Given the description of an element on the screen output the (x, y) to click on. 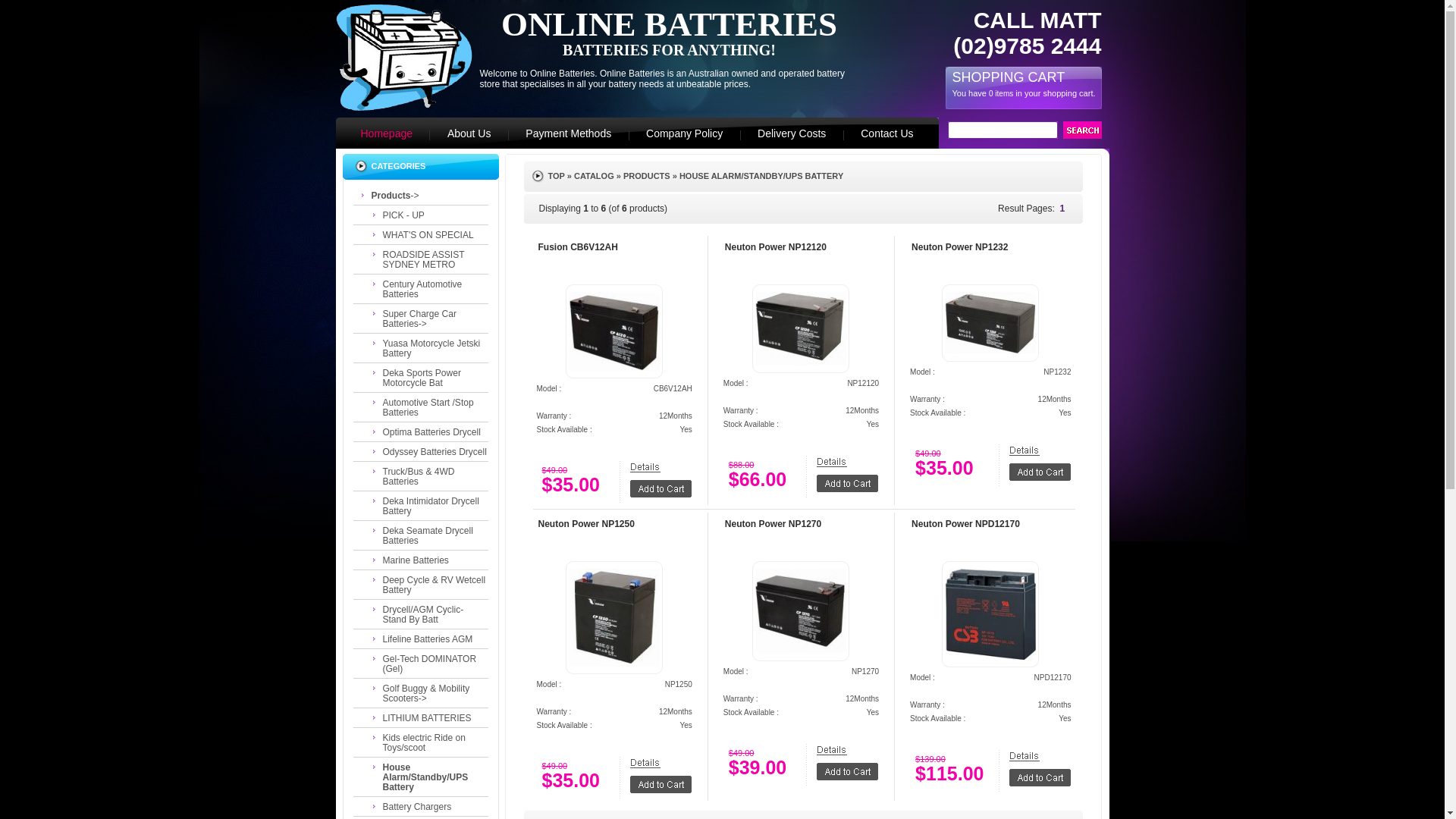
Neuton Power NP1270 Element type: text (772, 523)
ROADSIDE ASSIST SYDNEY METRO Element type: text (425, 258)
Odyssey Batteries Drycell Element type: text (425, 451)
Fusion CB6V12AH Element type: text (578, 246)
Deka Seamate Drycell Batteries Element type: text (425, 534)
Battery Chargers Element type: text (425, 805)
 Neuton Power NP12120  Element type: hover (800, 328)
 Neuton Power NPD12170  Element type: hover (989, 613)
TOP Element type: text (555, 175)
Kids electric Ride on Toys/scoot Element type: text (425, 741)
Neuton Power NP1250 Element type: text (586, 523)
HOUSE ALARM/STANDBY/UPS BATTERY Element type: text (761, 175)
Neuton Power NP1232 Element type: text (959, 246)
 Neuton Power NP1250  Element type: hover (613, 617)
Neuton Power NP12120 Element type: text (775, 246)
 Fusion CB6V12AH  Element type: hover (613, 330)
Automotive Start /Stop Batteries Element type: text (425, 406)
Products-> Element type: text (420, 194)
LITHIUM BATTERIES Element type: text (425, 717)
Yuasa Motorcycle Jetski Battery Element type: text (425, 347)
Golf Buggy & Mobility Scooters-> Element type: text (425, 692)
PICK - UP Element type: text (425, 214)
Lifeline Batteries AGM Element type: text (425, 638)
WHAT'S ON SPECIAL Element type: text (425, 234)
Payment Methods Element type: text (568, 132)
 Neuton Power NP1232  Element type: hover (989, 322)
Deep Cycle & RV Wetcell Battery Element type: text (425, 584)
Century Automotive Batteries Element type: text (425, 288)
Delivery Costs Element type: text (791, 132)
Deka Intimidator Drycell Battery Element type: text (425, 505)
Neuton Power NPD12170 Element type: text (965, 523)
Optima Batteries Drycell Element type: text (425, 431)
 Neuton Power NP1270  Element type: hover (800, 610)
Company Policy Element type: text (684, 132)
CATALOG Element type: text (594, 175)
Gel-Tech DOMINATOR (Gel) Element type: text (425, 662)
About Us Element type: text (469, 132)
Super Charge Car Batteries-> Element type: text (425, 317)
0 items Element type: text (1000, 93)
PRODUCTS Element type: text (646, 175)
House Alarm/Standby/UPS Battery Element type: text (425, 776)
Deka Sports Power Motorcycle Bat Element type: text (425, 377)
Homepage Element type: text (373, 132)
Marine Batteries Element type: text (425, 559)
Contact Us Element type: text (899, 132)
Drycell/AGM Cyclic-Stand By Batt Element type: text (425, 613)
Truck/Bus & 4WD Batteries Element type: text (425, 475)
